Given the description of an element on the screen output the (x, y) to click on. 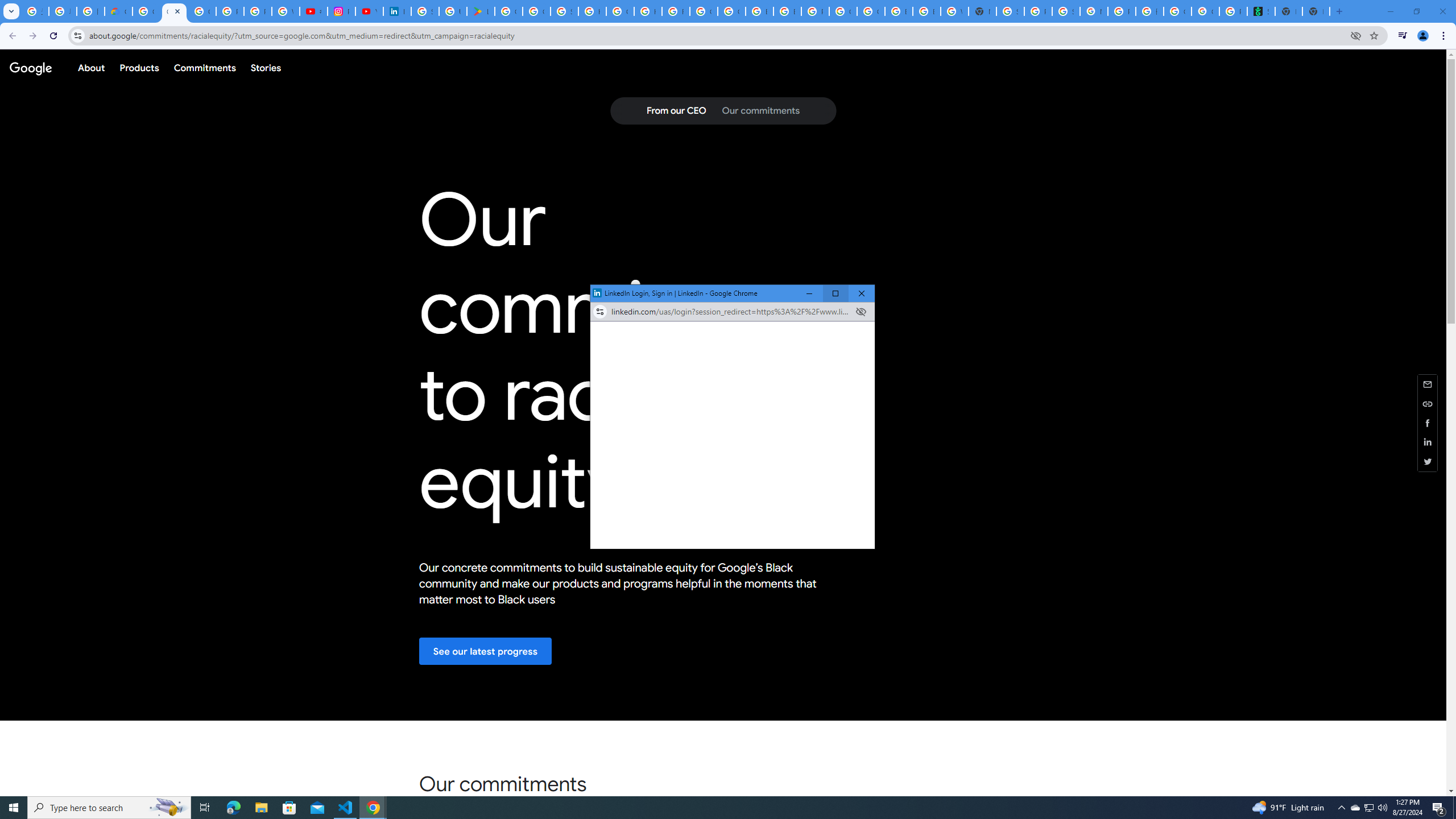
Share this page (LinkedIn) (1427, 442)
Visual Studio Code - 1 running window (345, 807)
Google Cloud Platform (870, 11)
Commitments (204, 67)
Last Shelter: Survival - Apps on Google Play (480, 11)
